Given the description of an element on the screen output the (x, y) to click on. 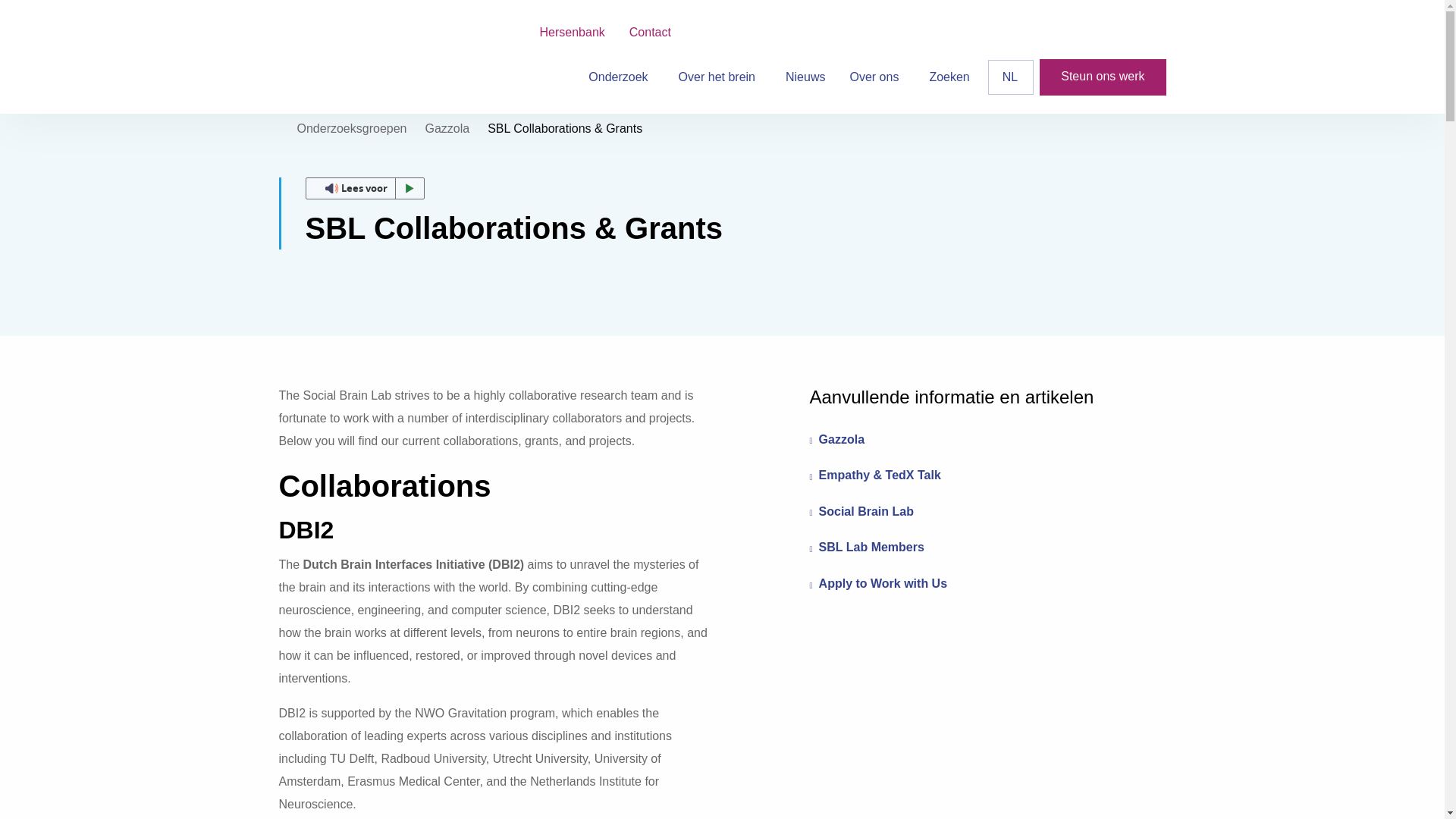
Hersenbank (572, 32)
Zoeken (949, 76)
Nieuws (805, 76)
Onderzoeksgroepen (352, 128)
Steun ons werk (1102, 76)
Over het brein (719, 76)
Ga naar Gazzola. (446, 128)
Ga naar Onderzoeksgroepen. (352, 128)
Contact (649, 32)
Onderzoek (620, 76)
